Given the description of an element on the screen output the (x, y) to click on. 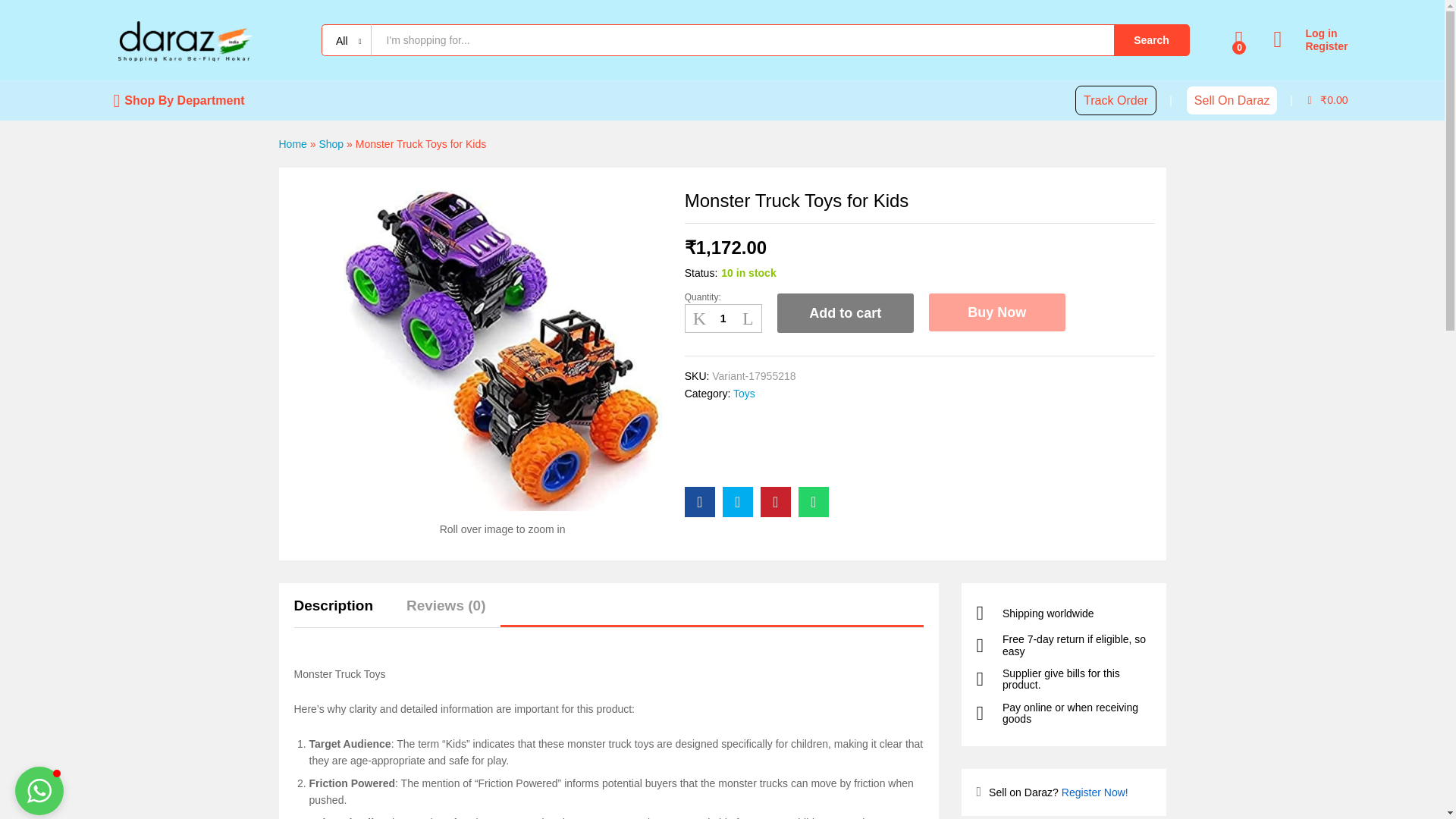
Monster Truck Toys for Kids (699, 501)
1 (722, 318)
Advertisement (817, 436)
Monster Truck Toys for Kids (812, 501)
Qty (722, 318)
Current wallet balance (1327, 100)
